Given the description of an element on the screen output the (x, y) to click on. 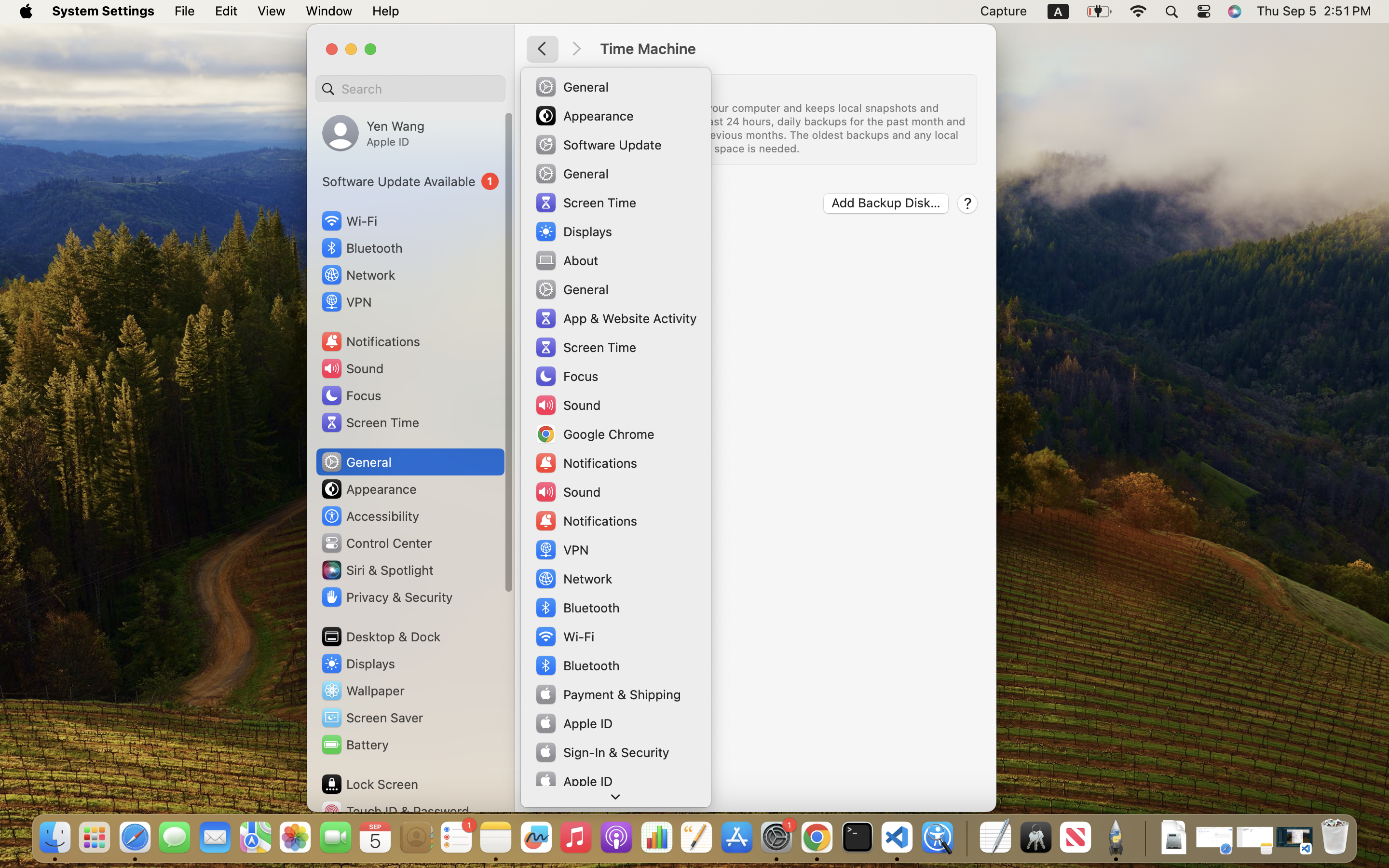
0.4285714328289032 Element type: AXDockItem (965, 837)
Displays Element type: AXStaticText (357, 663)
General Element type: AXStaticText (355, 461)
Yen Wang, Apple ID Element type: AXStaticText (373, 132)
VPN Element type: AXStaticText (345, 301)
